Given the description of an element on the screen output the (x, y) to click on. 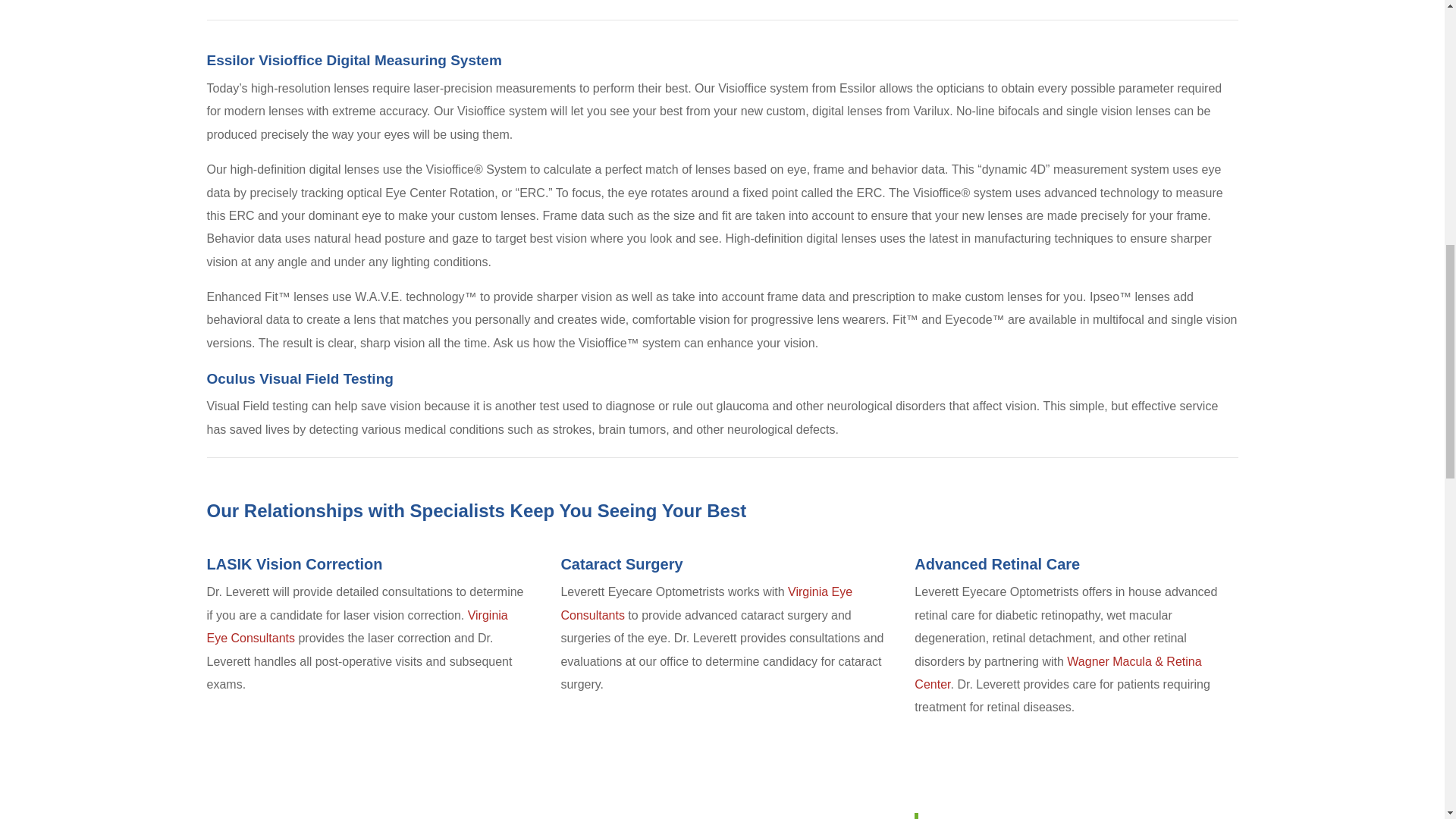
Virginia Eye Consultants (705, 602)
Leverett Eyecare, P.C. (993, 818)
Virginia Eye Consultants (356, 626)
